Given the description of an element on the screen output the (x, y) to click on. 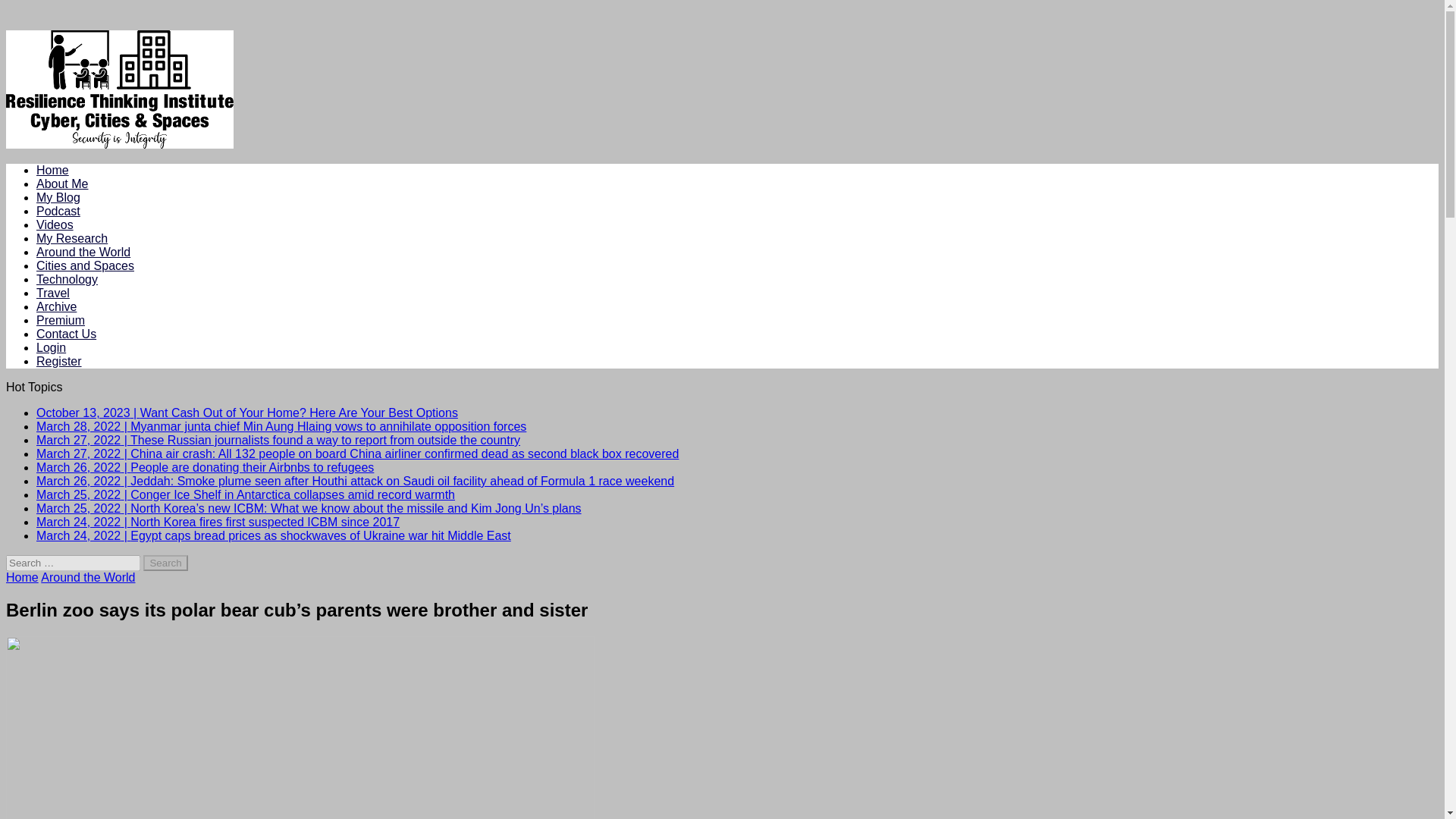
Cities and Spaces (84, 265)
North Korea fires first suspected ICBM since 2017 (217, 521)
Travel (52, 292)
Search (164, 562)
Search (164, 562)
Podcast (58, 210)
Home (52, 169)
Around the World (83, 251)
Search (164, 562)
Login (50, 347)
My Research (71, 237)
Register (58, 360)
Around the World (87, 576)
